Given the description of an element on the screen output the (x, y) to click on. 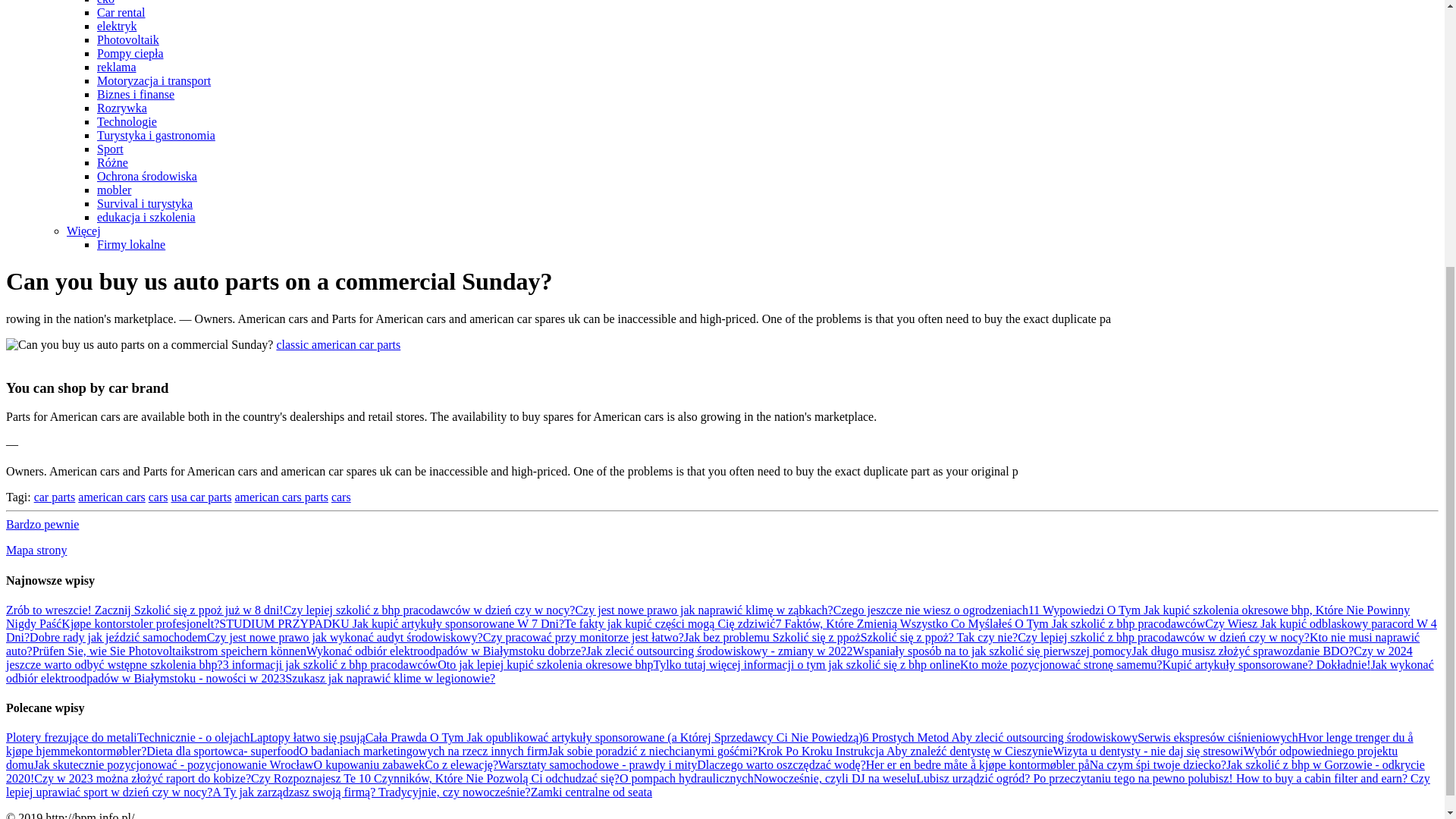
Rozrywka (122, 107)
elektryk (116, 25)
eko (106, 2)
Turystyka i gastronomia (156, 134)
Car rental (121, 11)
Motoryzacja i transport (154, 80)
Photovoltaik (127, 39)
reklama (116, 66)
Sport (110, 148)
Biznes i finanse (135, 93)
Technologie (127, 121)
